Given the description of an element on the screen output the (x, y) to click on. 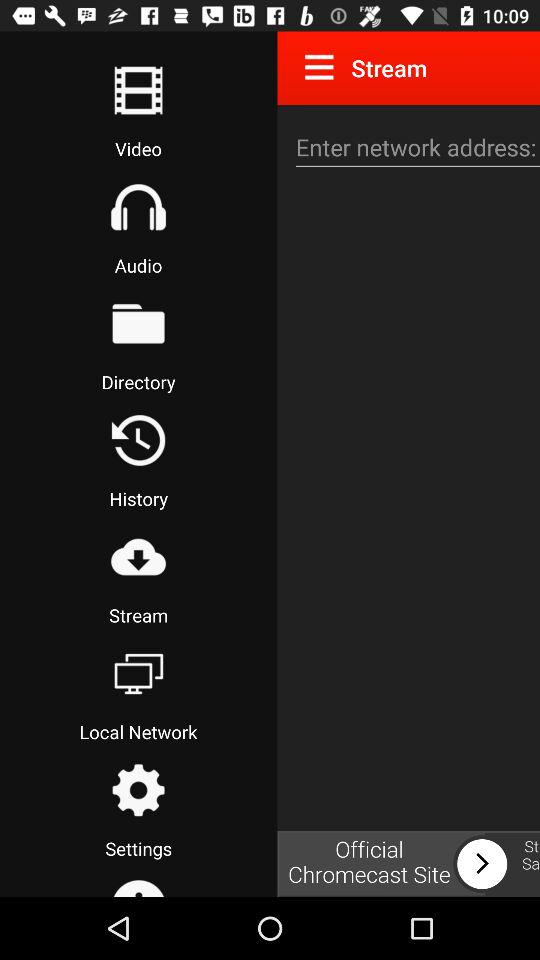
start to rec (138, 90)
